Given the description of an element on the screen output the (x, y) to click on. 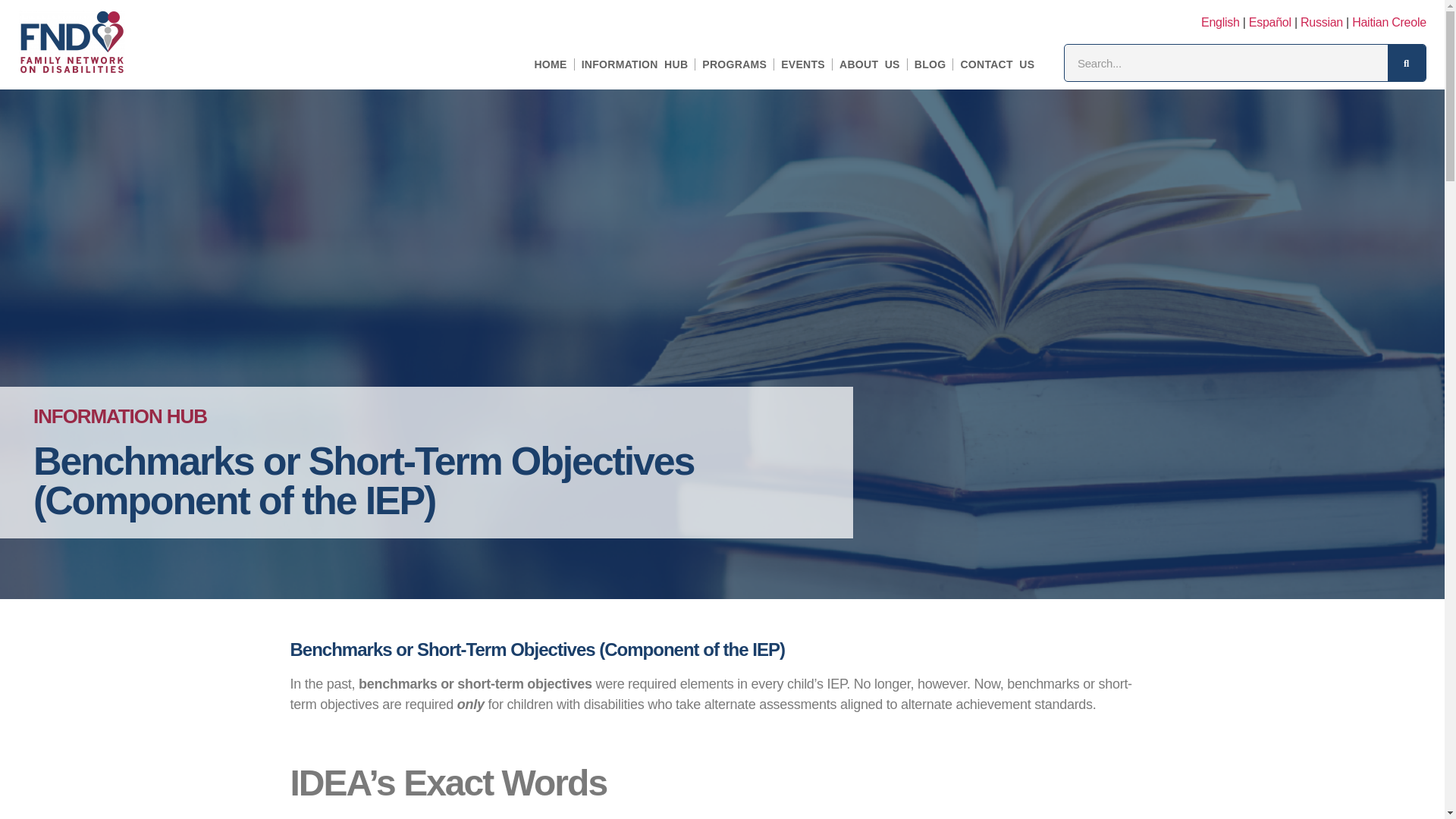
HOME (549, 63)
English (1220, 22)
BLOG (929, 63)
INFORMATION HUB (635, 63)
PROGRAMS (733, 63)
Russian (1321, 22)
FND-LOG-White-Drop (71, 41)
Spanish (1270, 22)
CONTACT US (996, 63)
EVENTS (803, 63)
Haitian (1389, 22)
ABOUT US (869, 63)
